Given the description of an element on the screen output the (x, y) to click on. 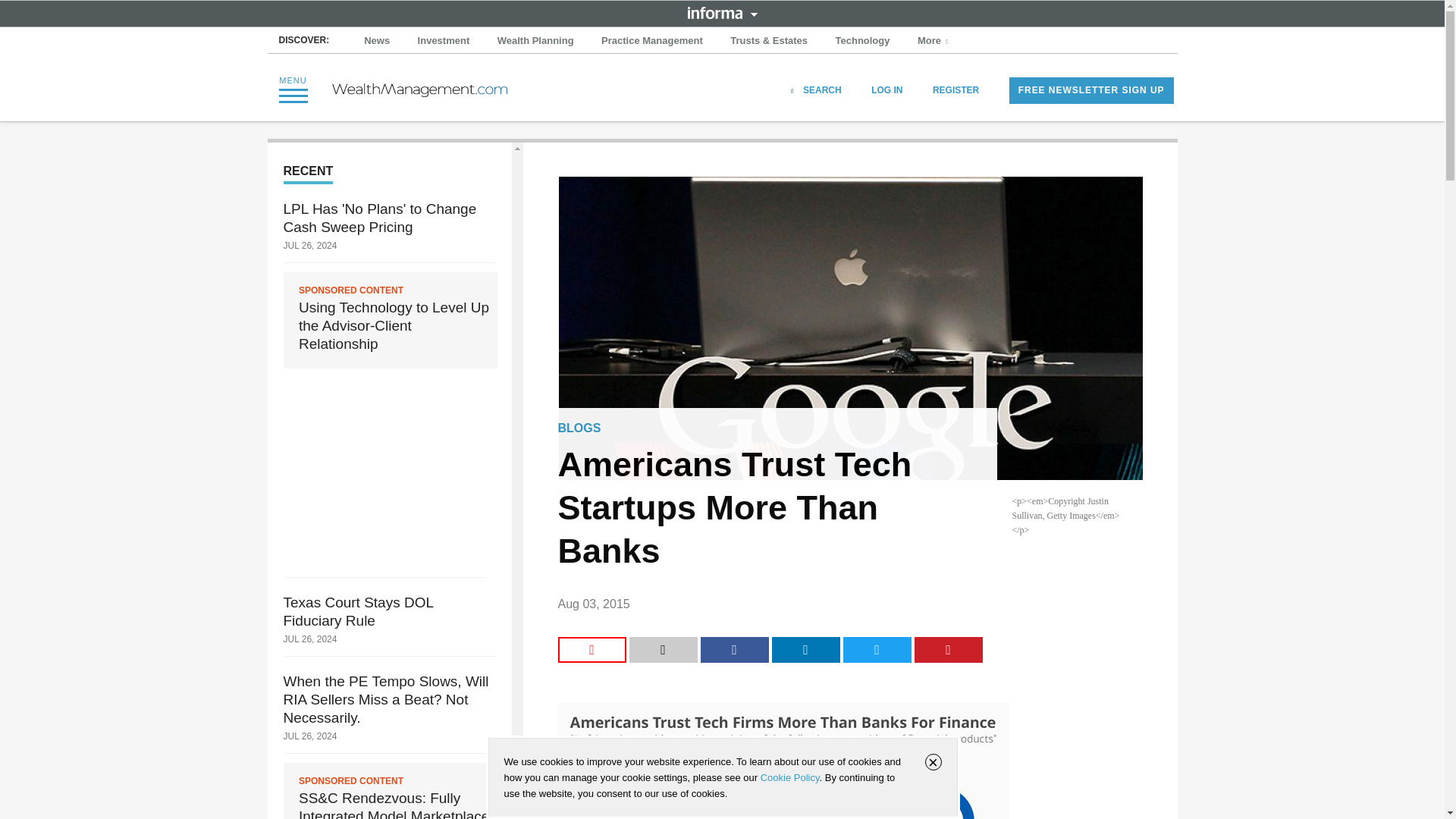
Technology (862, 41)
INFORMA (722, 12)
Investment (444, 41)
More (934, 41)
Wealth Planning (535, 41)
Practice Management (652, 41)
Cookie Policy (789, 777)
News (377, 41)
